Given the description of an element on the screen output the (x, y) to click on. 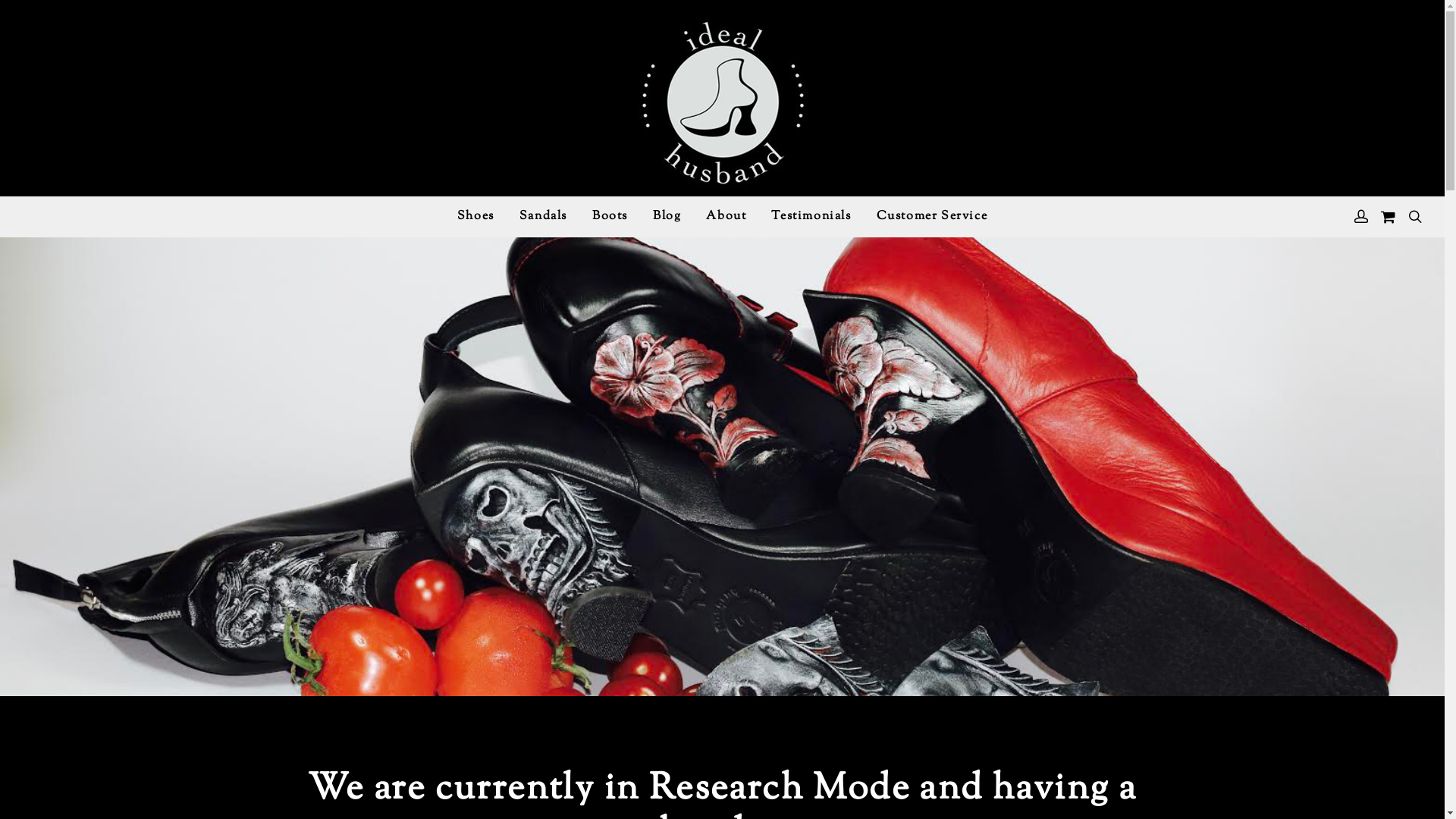
Boots Element type: text (609, 216)
View your shopping cart Element type: hover (1387, 217)
About Element type: text (726, 216)
Sandals Element type: text (543, 216)
Search Element type: text (985, 408)
Log In Element type: text (1261, 459)
Customer Service Element type: text (932, 216)
Testimonials Element type: text (810, 216)
Shoes Element type: text (475, 216)
Blog Element type: text (666, 216)
